Given the description of an element on the screen output the (x, y) to click on. 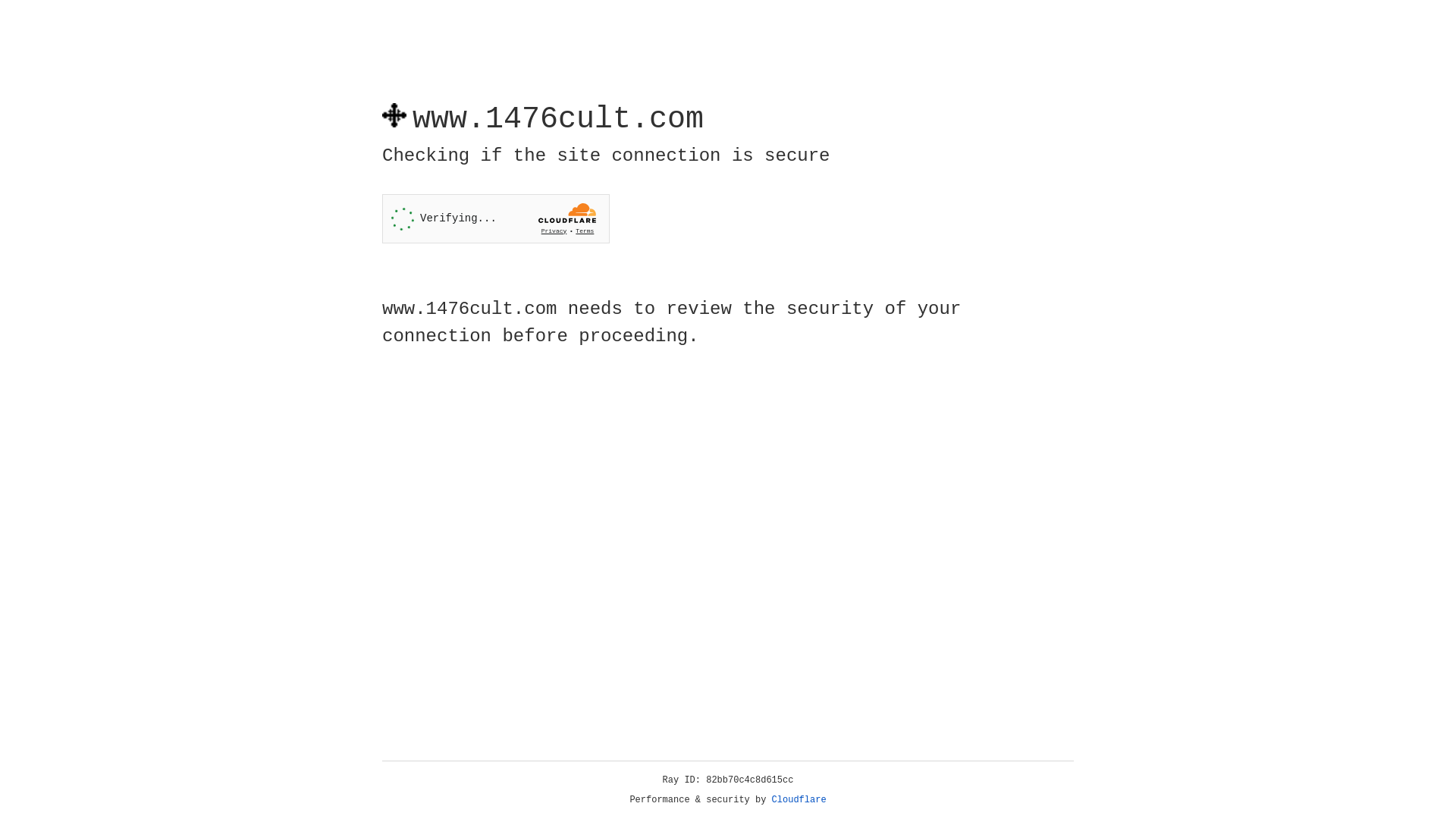
Cloudflare Element type: text (798, 799)
Widget containing a Cloudflare security challenge Element type: hover (495, 218)
